Given the description of an element on the screen output the (x, y) to click on. 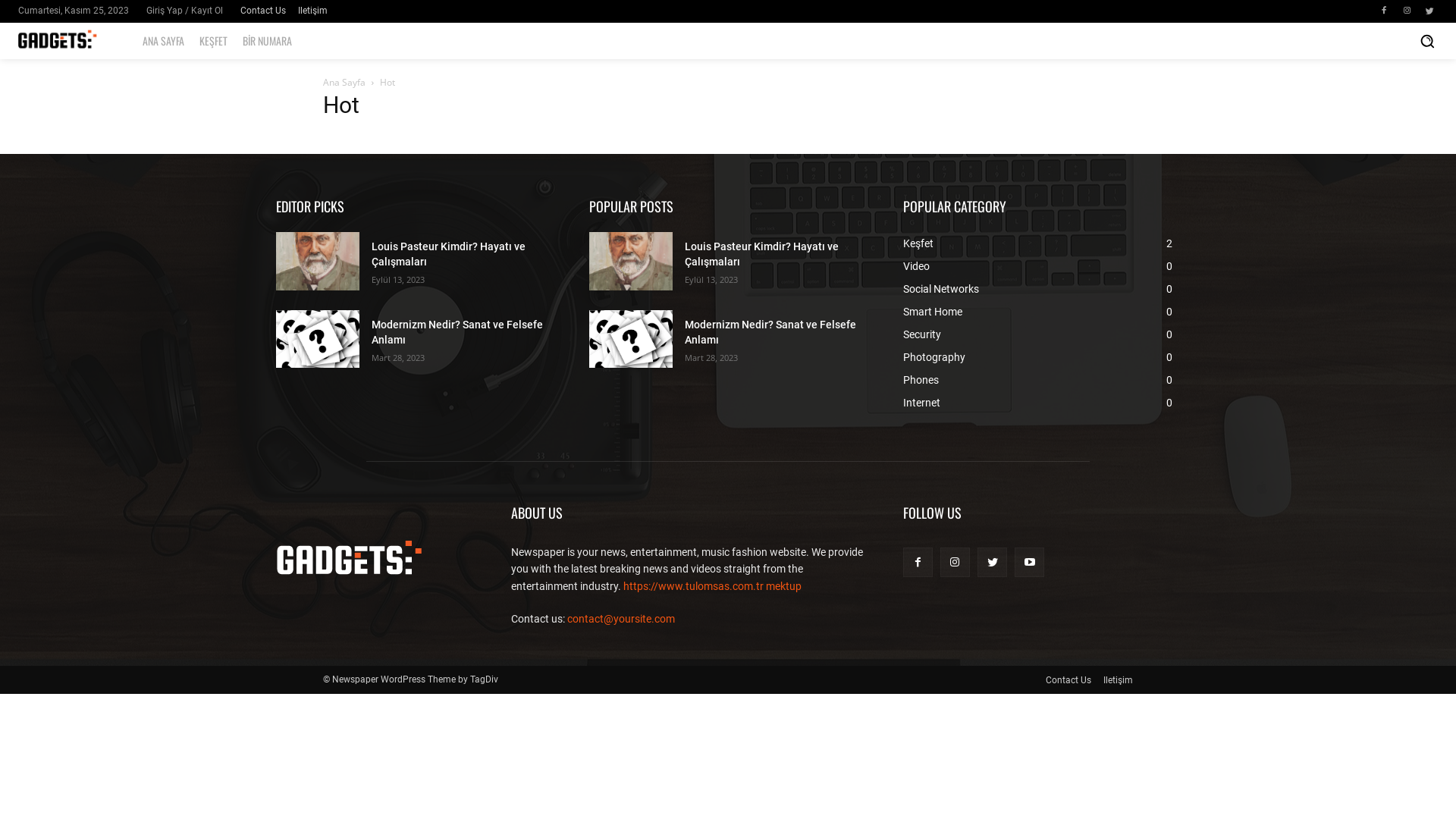
BIR NUMARA Element type: text (267, 40)
Social Networks
0 Element type: text (941, 288)
Contact Us Element type: text (1068, 679)
Ana Sayfa Element type: text (344, 81)
Twitter Element type: hover (1429, 11)
mektup Element type: text (783, 586)
Contact Us Element type: text (262, 10)
contact@yoursite.com Element type: text (620, 618)
Internet
0 Element type: text (921, 402)
Instagram Element type: hover (954, 562)
Facebook Element type: hover (1383, 11)
https://www.tulomsas.com.tr Element type: text (693, 586)
Facebook Element type: hover (917, 562)
Twitter Element type: hover (992, 562)
ANA SAYFA Element type: text (162, 40)
Youtube Element type: hover (1029, 562)
Photography
0 Element type: text (934, 357)
Instagram Element type: hover (1406, 11)
Smart Home
0 Element type: text (932, 311)
Security
0 Element type: text (922, 334)
Video
0 Element type: text (916, 266)
Phones
0 Element type: text (920, 379)
